Given the description of an element on the screen output the (x, y) to click on. 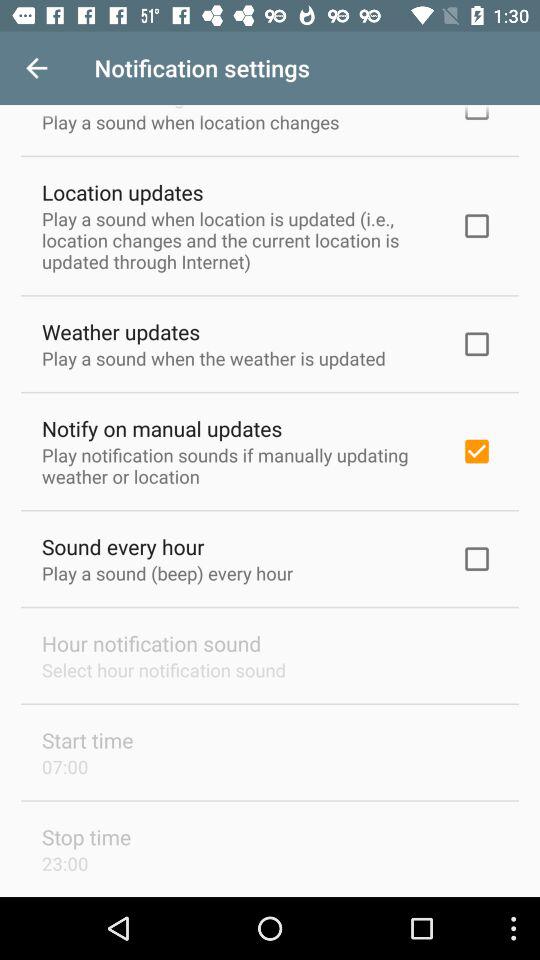
choose item below the play a sound icon (121, 331)
